Given the description of an element on the screen output the (x, y) to click on. 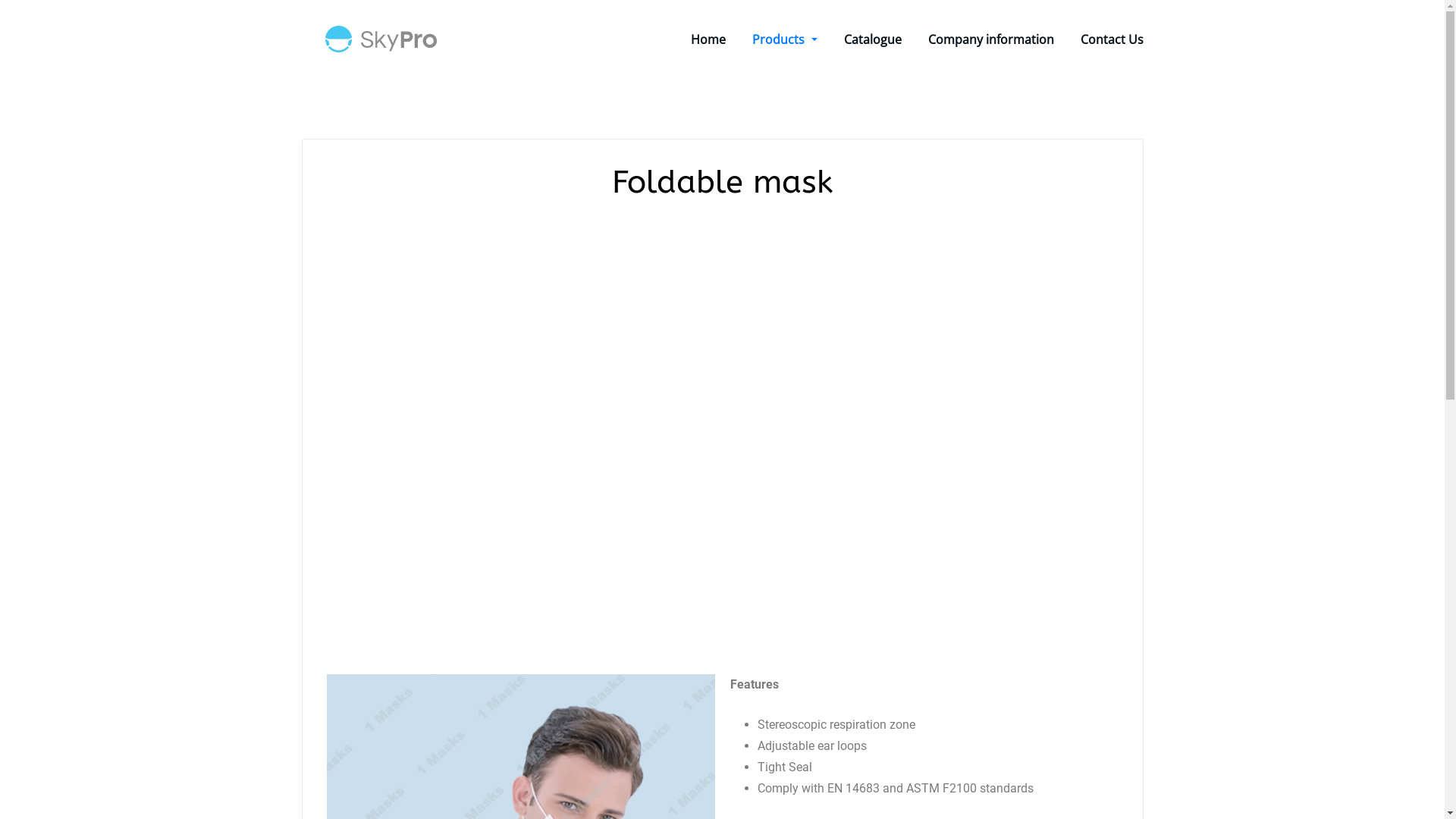
Company information Element type: text (991, 39)
Contact Us Element type: text (1110, 39)
Catalogue Element type: text (871, 39)
Home Element type: text (707, 39)
Products Element type: text (784, 39)
